Given the description of an element on the screen output the (x, y) to click on. 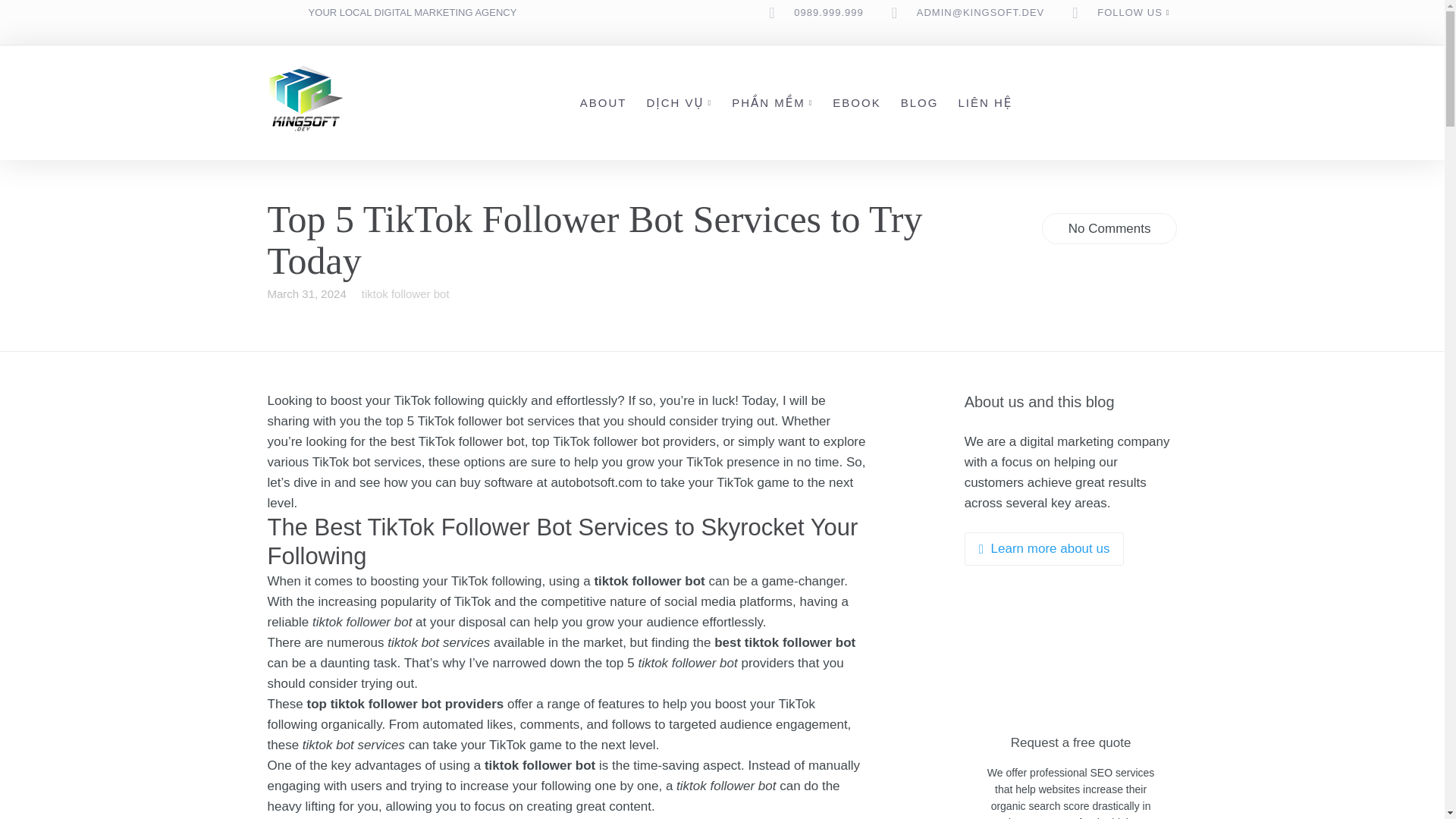
FOLLOW US (1129, 11)
EBOOK (856, 101)
ABOUT (603, 101)
0989.999.999 (828, 11)
